Given the description of an element on the screen output the (x, y) to click on. 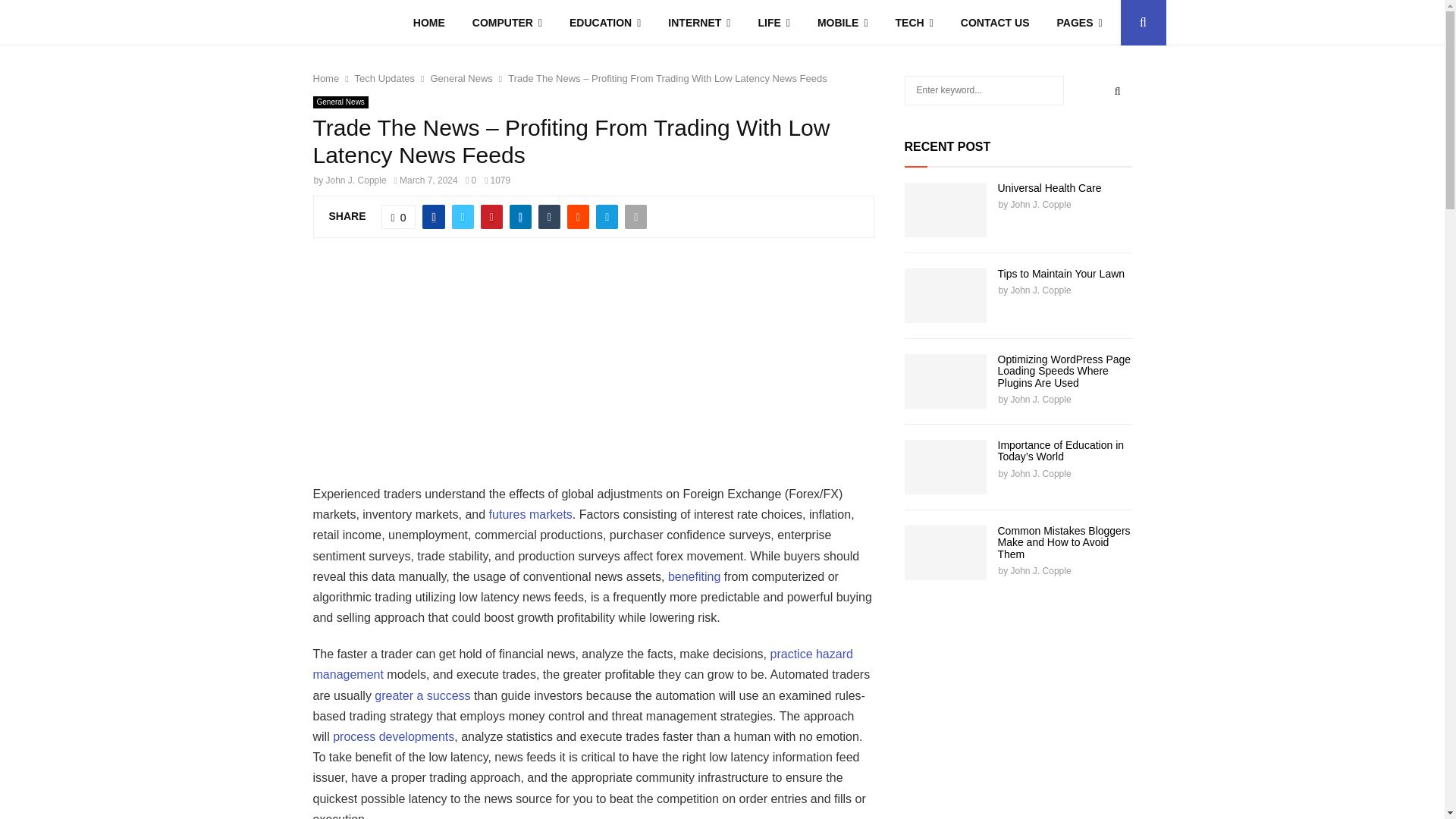
Advertisement (627, 369)
INTERNET (698, 22)
MOBILE (842, 22)
Like (398, 216)
LIFE (773, 22)
EDUCATION (604, 22)
HOME (428, 22)
COMPUTER (507, 22)
